Given the description of an element on the screen output the (x, y) to click on. 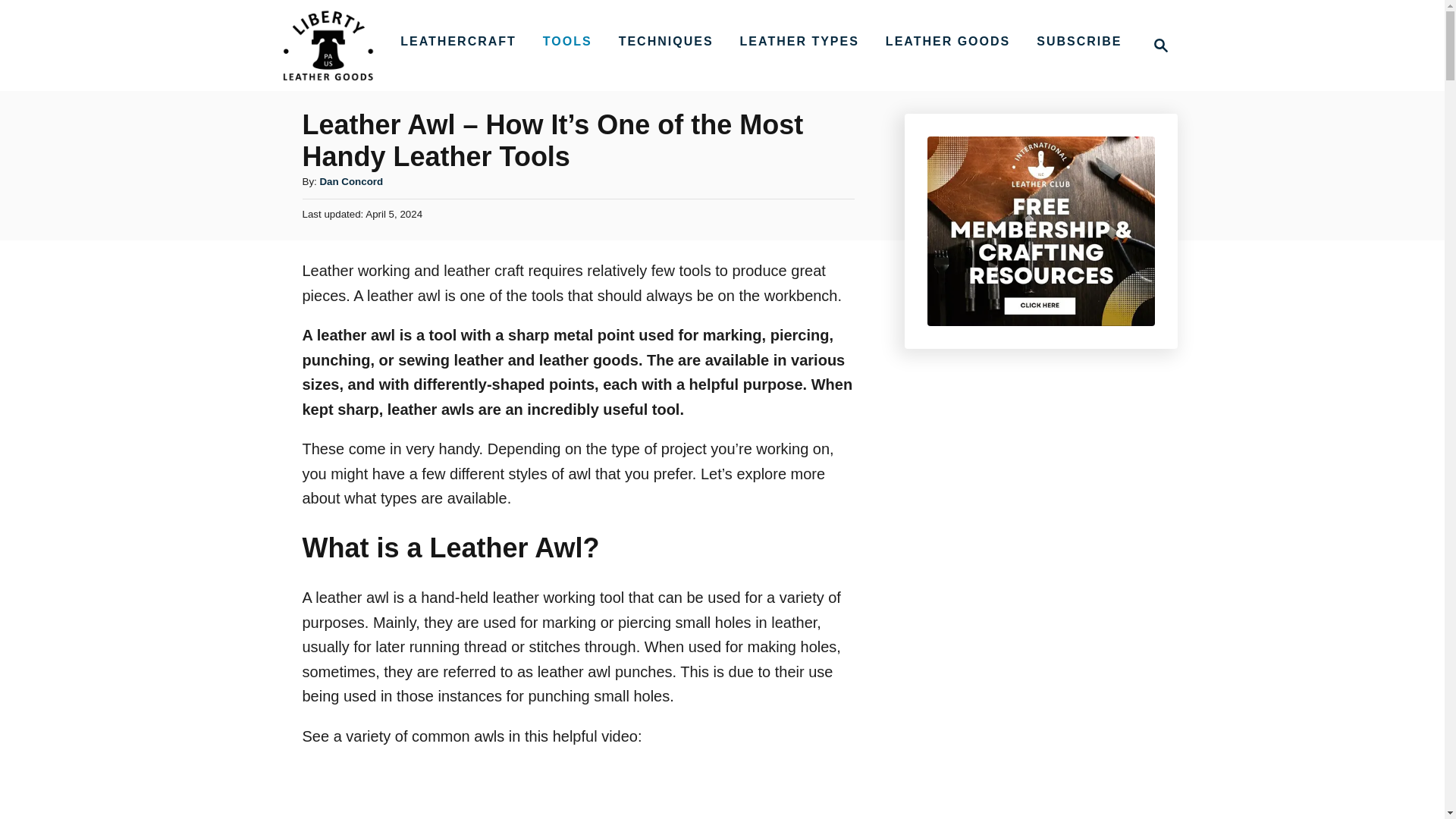
Dan Concord (350, 181)
LEATHER GOODS (947, 41)
Leather Working Awls (513, 791)
Magnifying Glass (1160, 45)
LEATHER TYPES (799, 41)
TOOLS (567, 41)
TECHNIQUES (665, 41)
LEATHERCRAFT (458, 41)
Liberty Leather Goods (328, 45)
SUBSCRIBE (1079, 41)
